Given the description of an element on the screen output the (x, y) to click on. 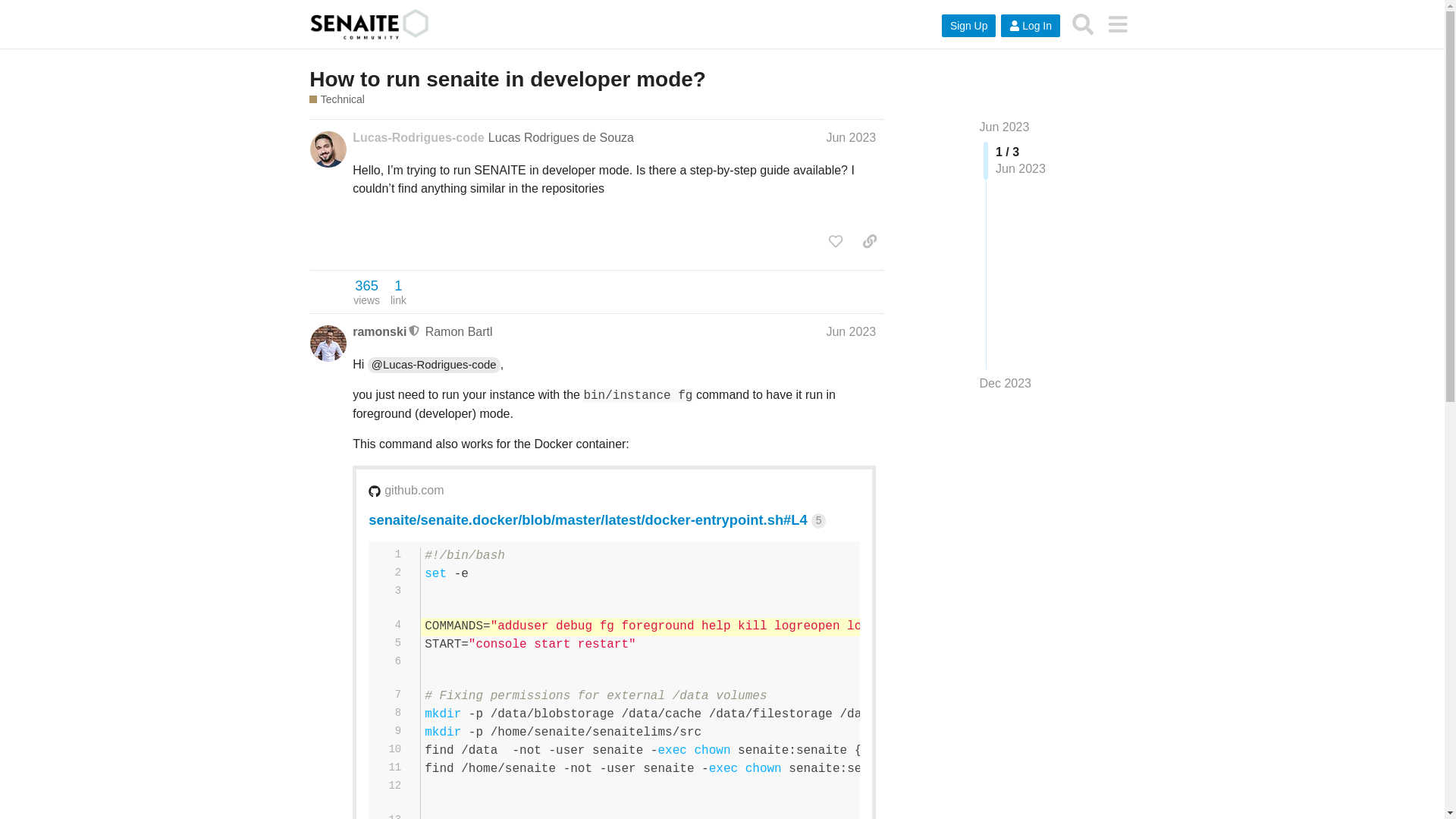
Log In (1030, 25)
This user is a moderator (414, 331)
Jump to the last post (1005, 382)
5 clicks (817, 520)
menu (1117, 23)
Ramon Bartl (459, 330)
Jun 2023 (850, 330)
Lucas-Rodrigues-code (417, 137)
Search (1082, 23)
github.com (414, 490)
